Given the description of an element on the screen output the (x, y) to click on. 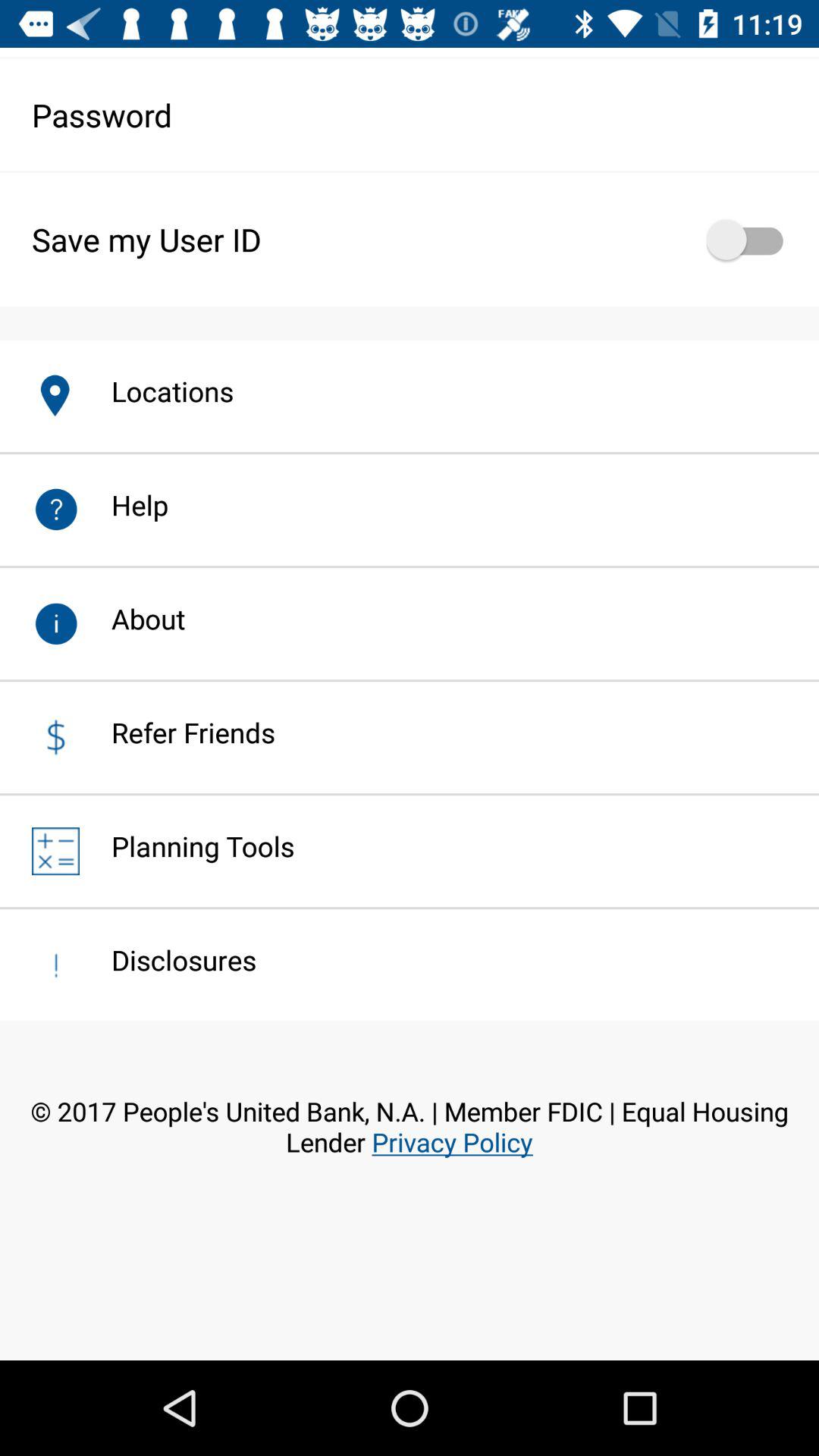
flip until help app (123, 504)
